Given the description of an element on the screen output the (x, y) to click on. 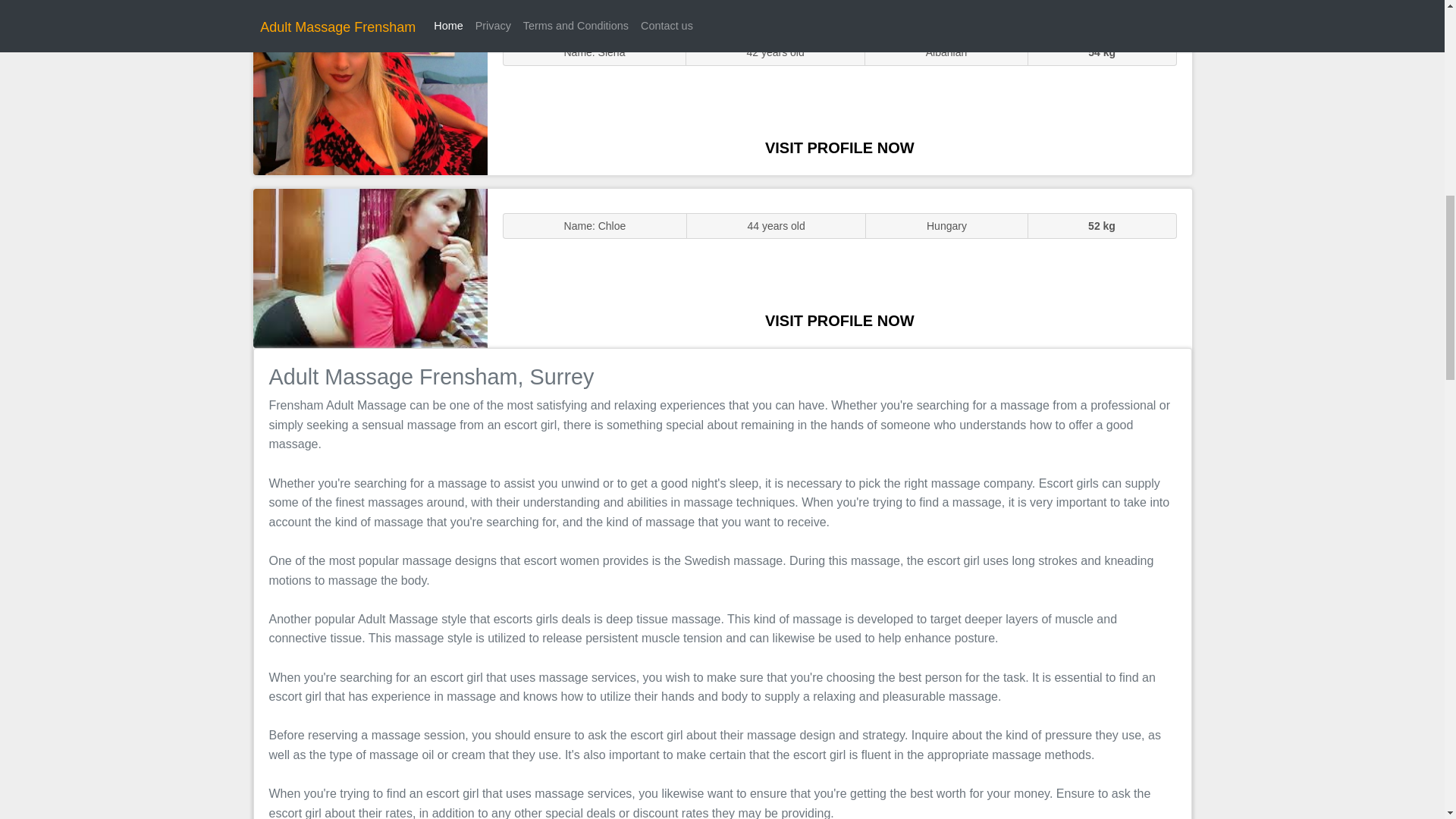
Massage (370, 267)
Sluts (370, 94)
VISIT PROFILE NOW (839, 320)
VISIT PROFILE NOW (839, 147)
